Given the description of an element on the screen output the (x, y) to click on. 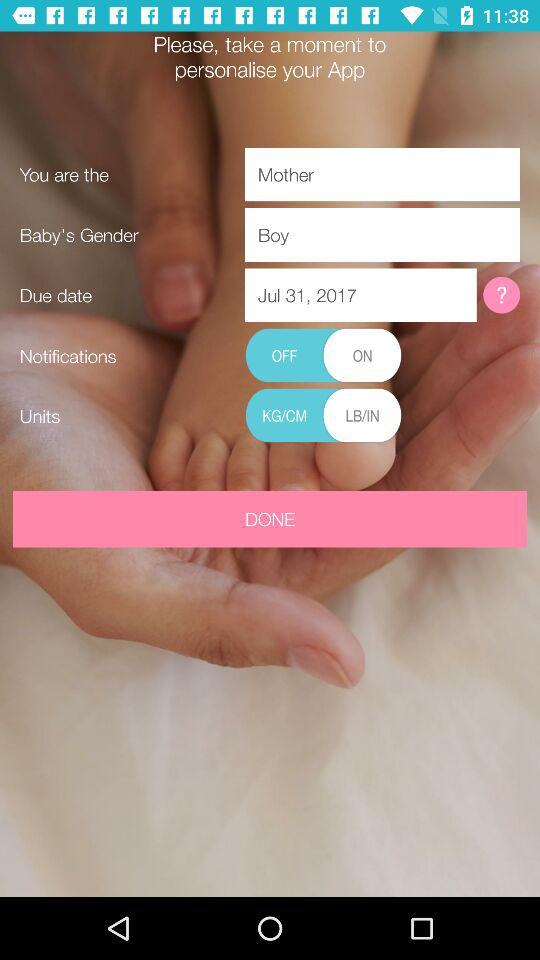
unit option (323, 415)
